Given the description of an element on the screen output the (x, y) to click on. 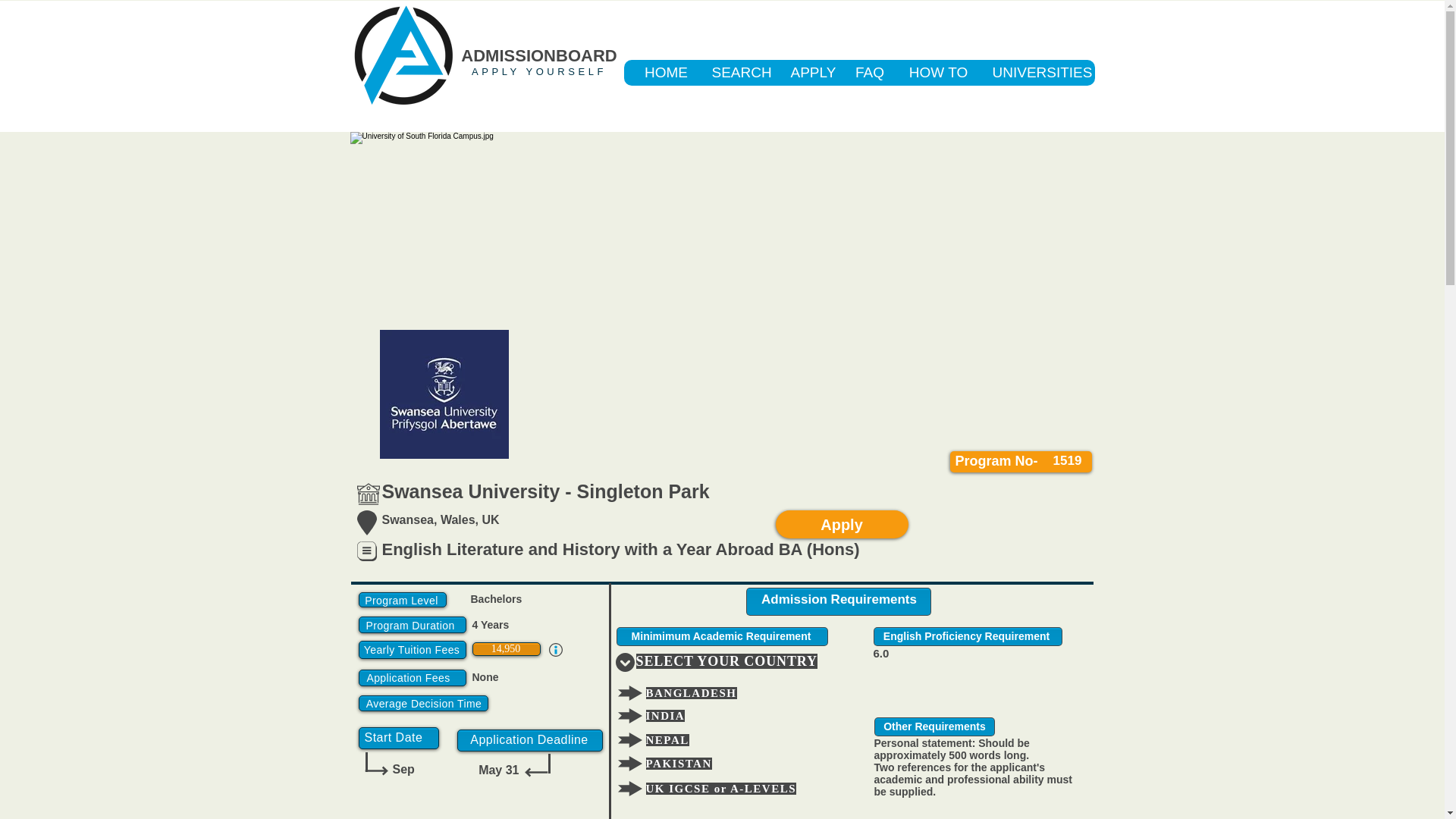
SEARCH (737, 72)
swanseabanner logo.jpg (443, 394)
ADMISSIONBOARD (538, 55)
APPLY (810, 72)
FAQ (869, 72)
Apply (840, 524)
UNIVERSITIES (1036, 72)
HOME (665, 72)
HOW TO (937, 72)
